Given the description of an element on the screen output the (x, y) to click on. 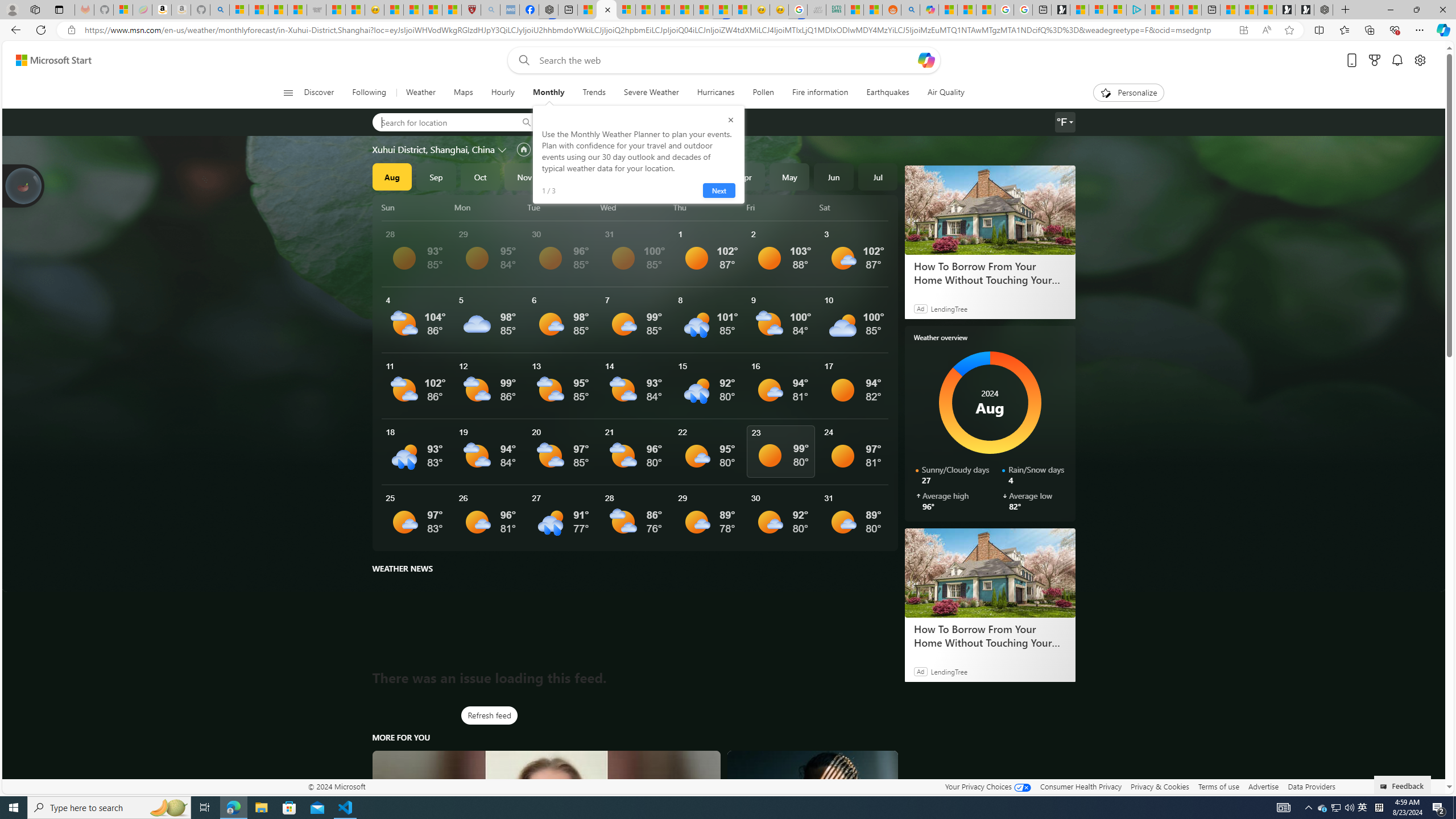
Personalize (1128, 92)
Search for location (440, 122)
Apr (745, 176)
